Given the description of an element on the screen output the (x, y) to click on. 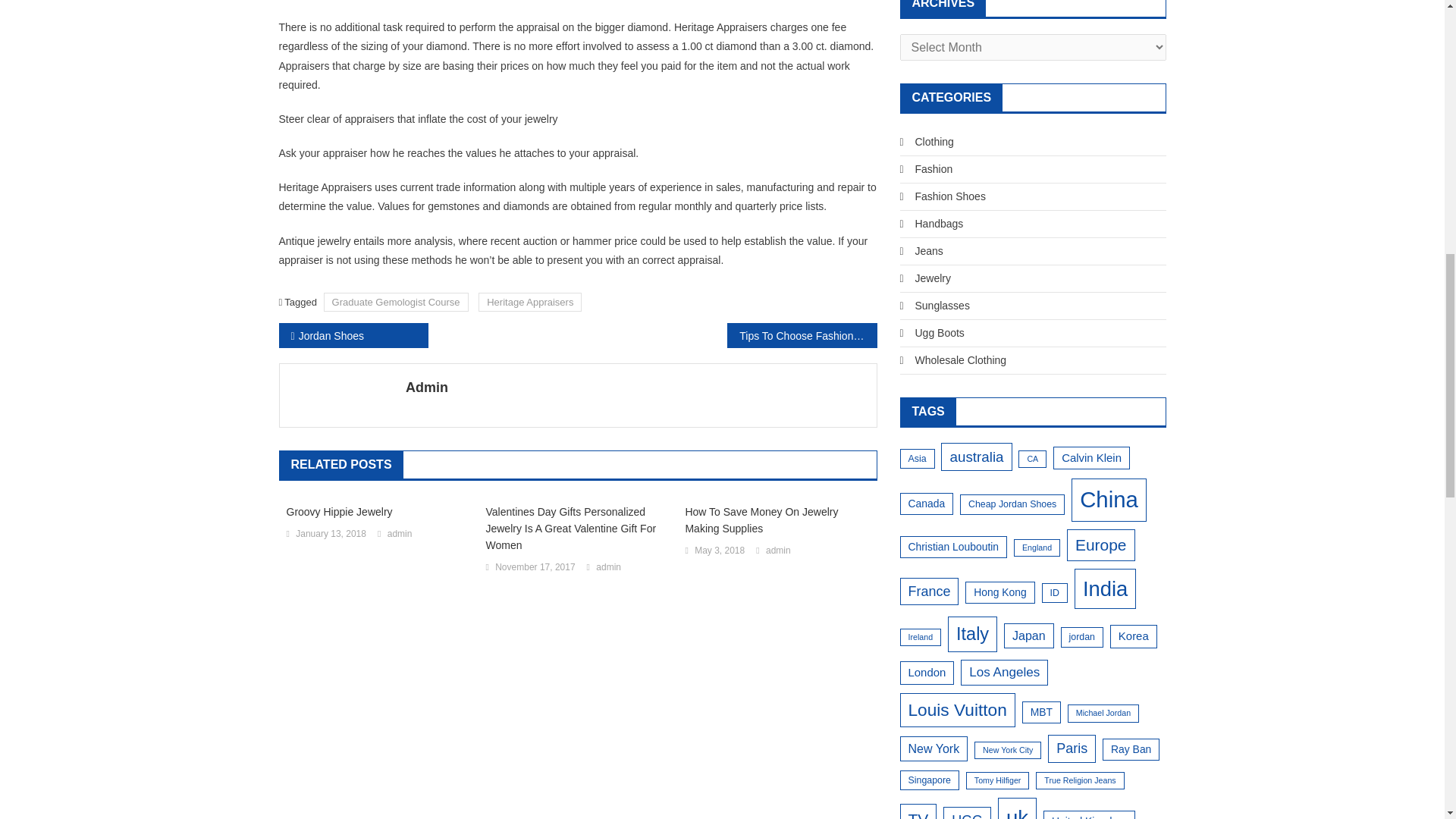
January 13, 2018 (330, 534)
admin (777, 550)
admin (608, 567)
May 3, 2018 (719, 550)
November 17, 2017 (535, 567)
Heritage Appraisers (529, 302)
Tips To Choose Fashion Handbag Occasionally (801, 335)
Graduate Gemologist Course (395, 302)
Jordan Shoes (353, 335)
Admin (635, 387)
How To Save Money On Jewelry Making Supplies (776, 520)
admin (399, 534)
Groovy Hippie Jewelry (378, 511)
